Given the description of an element on the screen output the (x, y) to click on. 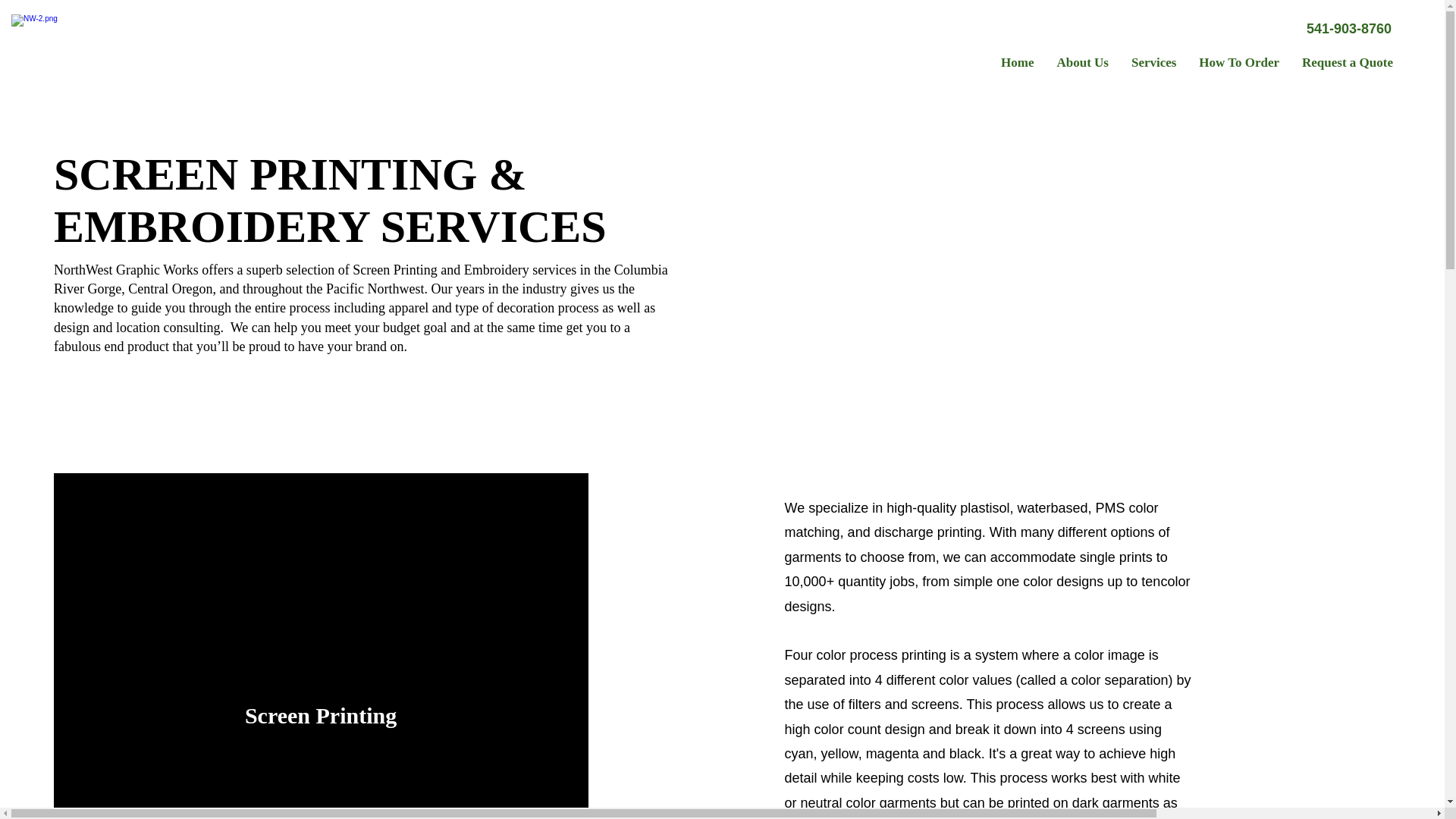
About Us (1082, 62)
Home (1017, 62)
How To Order (1239, 62)
541-903-8760 (1348, 28)
Request a Quote (1347, 62)
Services (1153, 62)
